Given the description of an element on the screen output the (x, y) to click on. 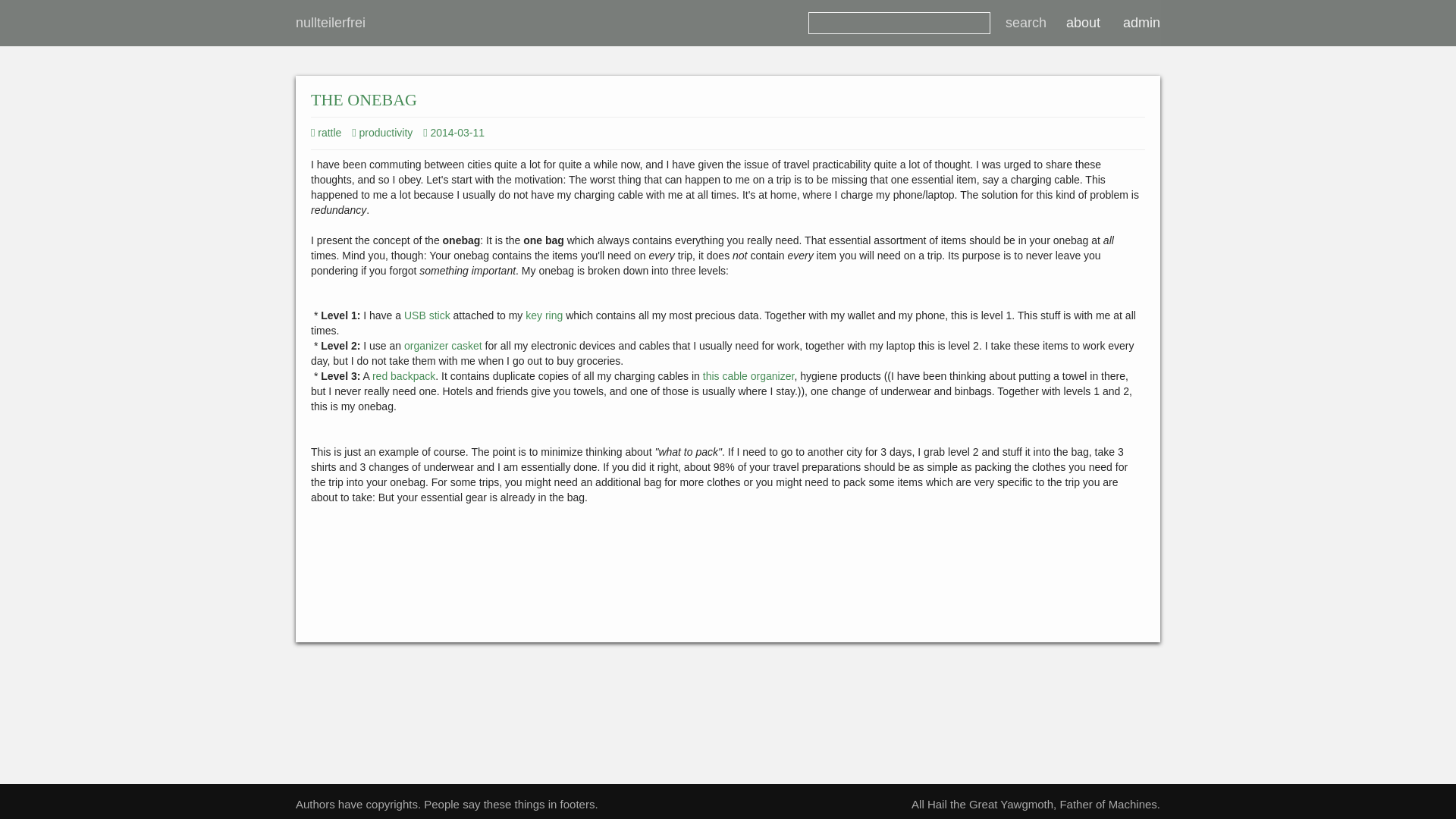
THE ONEBAG (363, 99)
this cable organizer (748, 376)
productivity (382, 132)
search (1026, 22)
2014-03-11 (457, 132)
about (1081, 22)
nullteilerfrei (330, 22)
USB stick (426, 315)
admin (1142, 22)
 about (1081, 22)
